Given the description of an element on the screen output the (x, y) to click on. 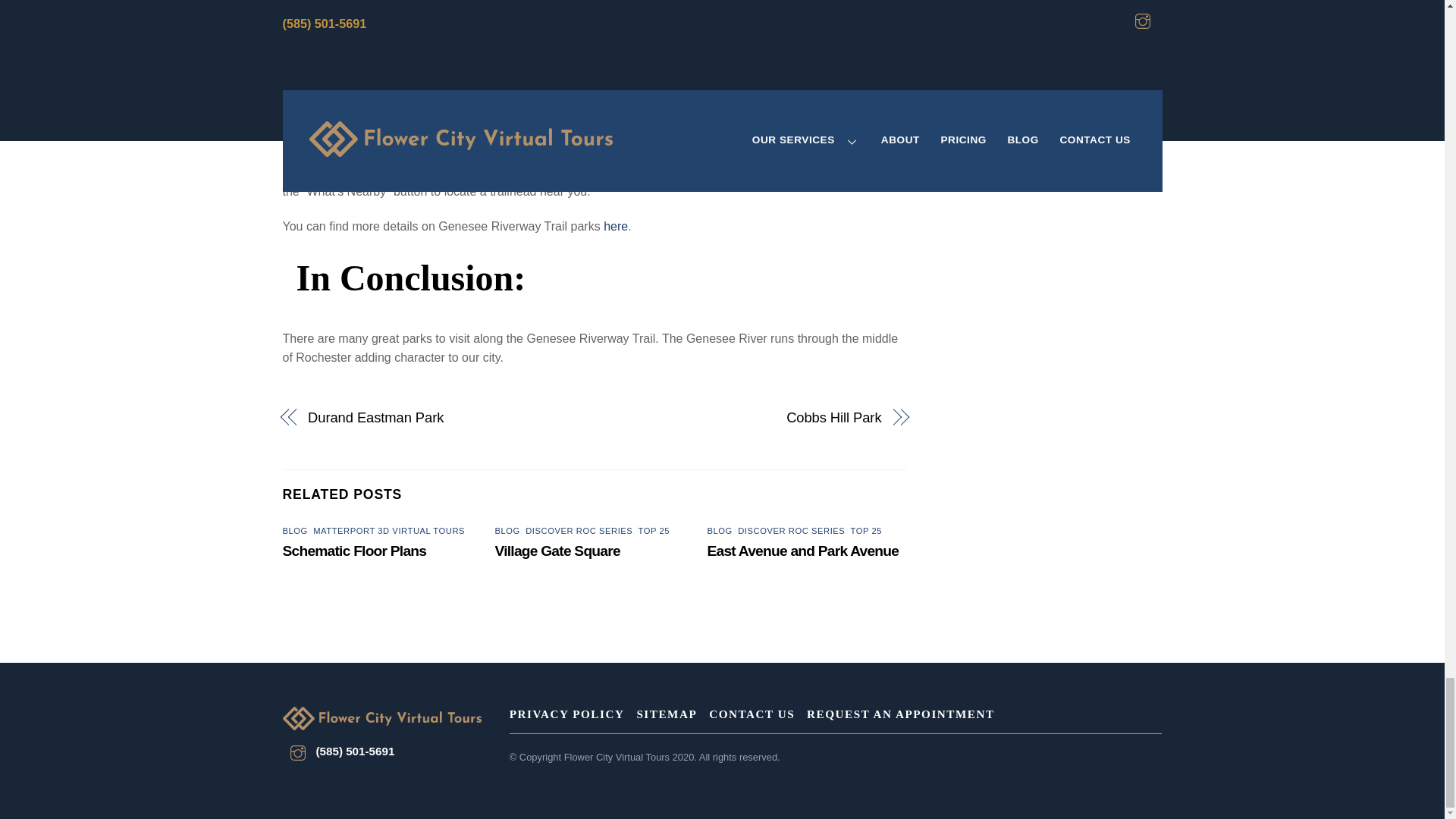
here (615, 226)
Genesee Riverway and Trail Guide (464, 171)
Flower City Virtual Tours (381, 720)
